Given the description of an element on the screen output the (x, y) to click on. 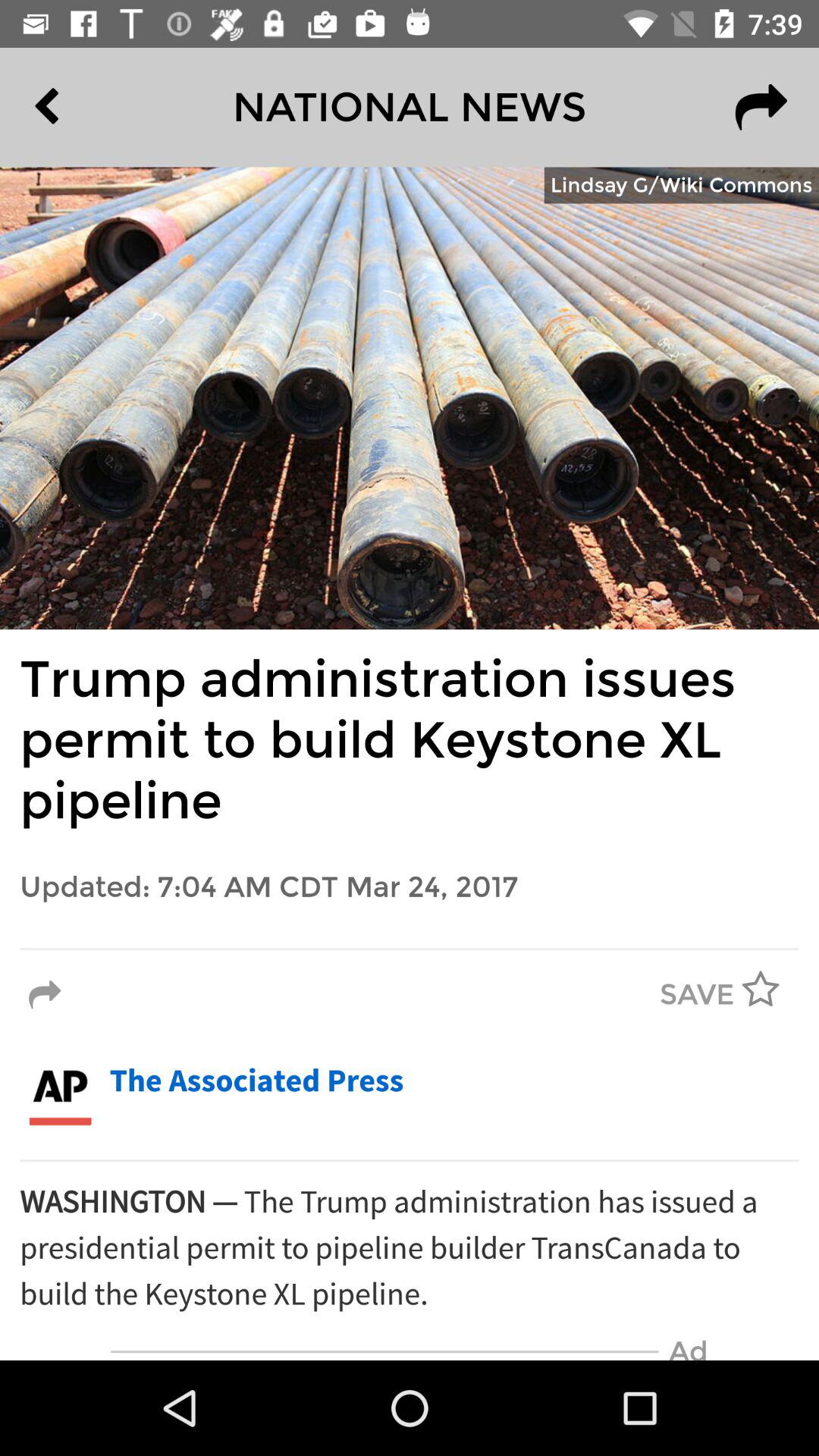
turn off icon above trump administration issues icon (681, 185)
